Given the description of an element on the screen output the (x, y) to click on. 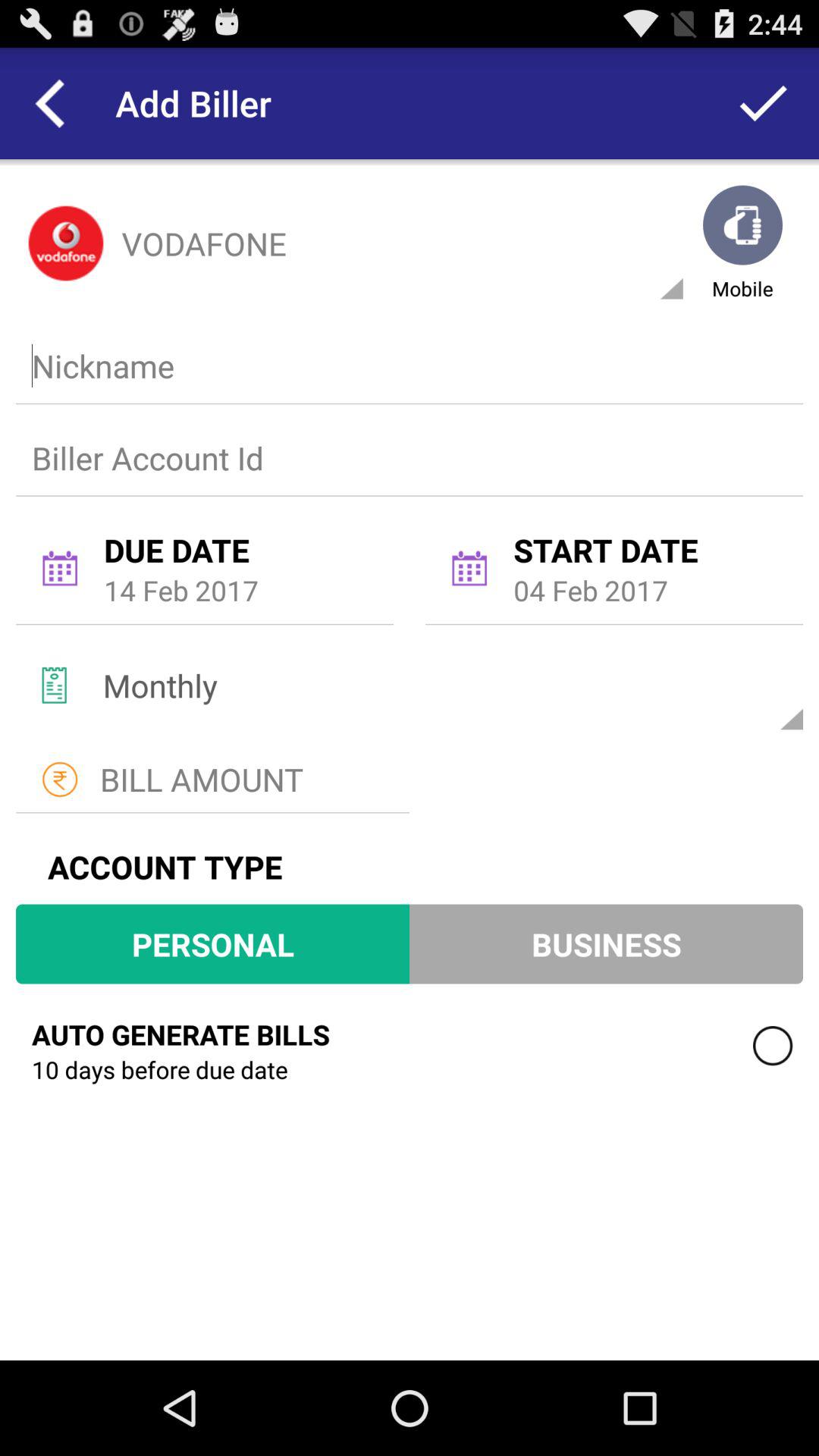
open the business button (606, 943)
